Given the description of an element on the screen output the (x, y) to click on. 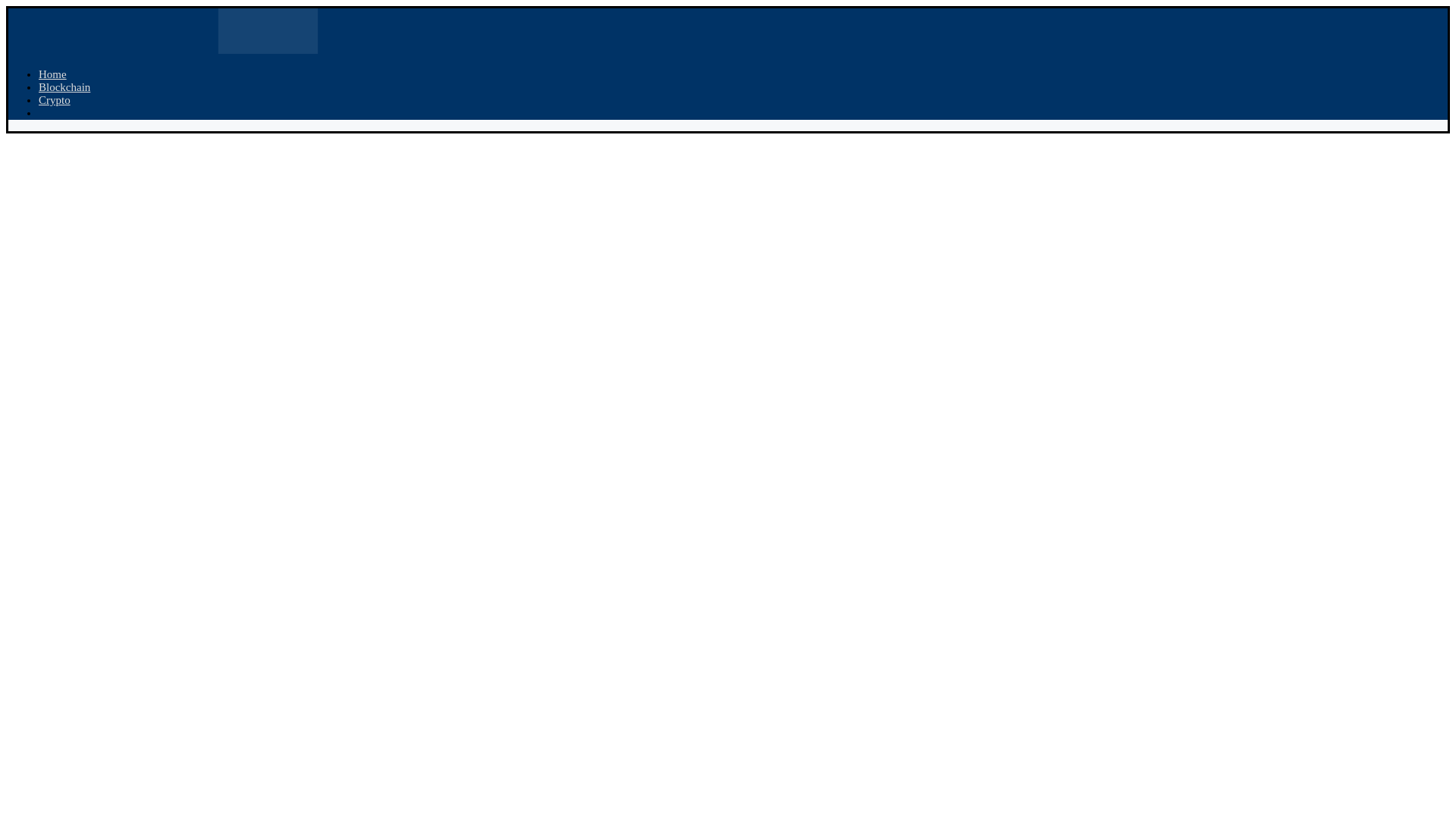
Crypto (54, 100)
Blockchain (64, 87)
Home (52, 73)
